Given the description of an element on the screen output the (x, y) to click on. 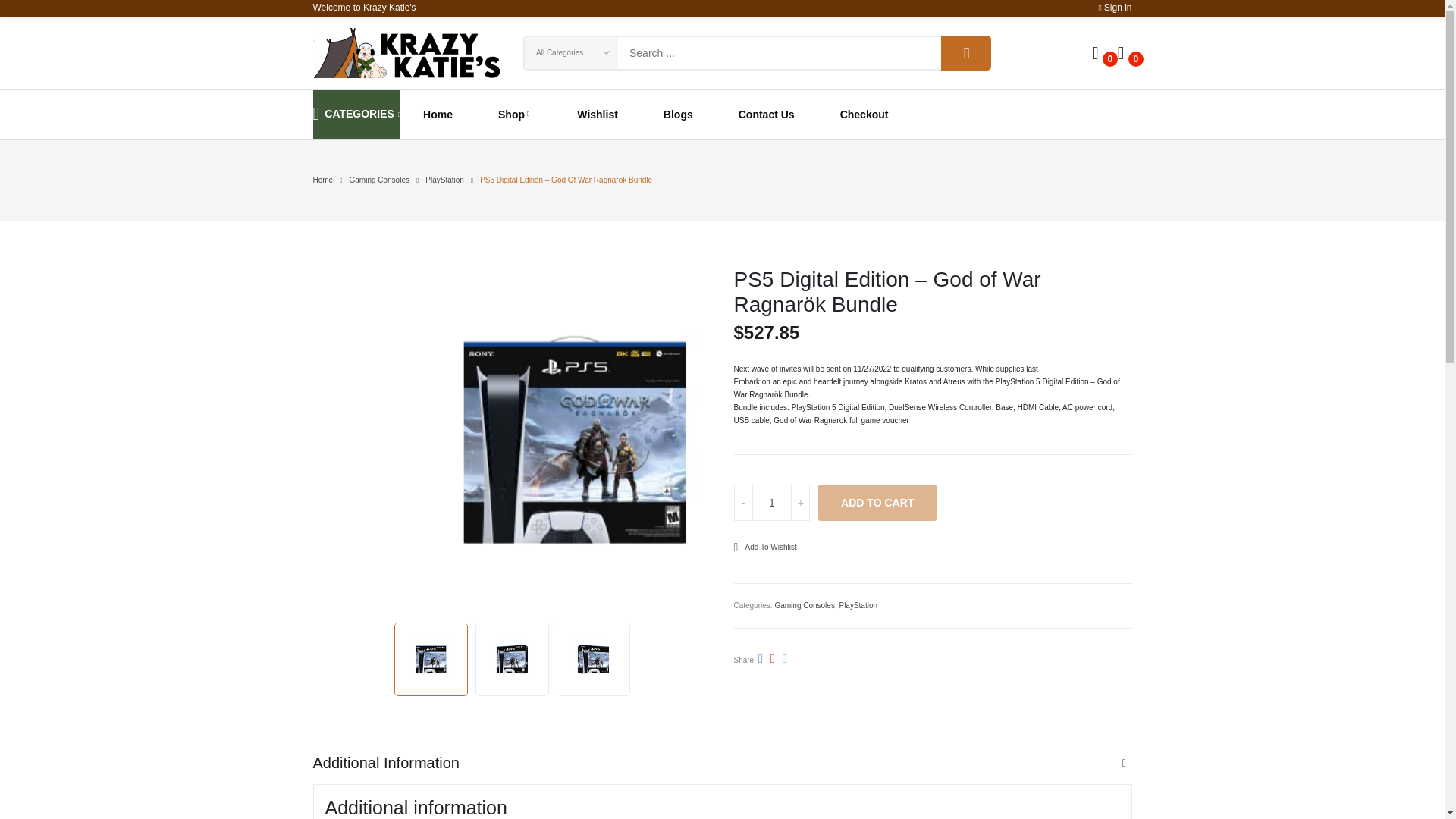
1 (771, 502)
Sign in (1114, 8)
